Given the description of an element on the screen output the (x, y) to click on. 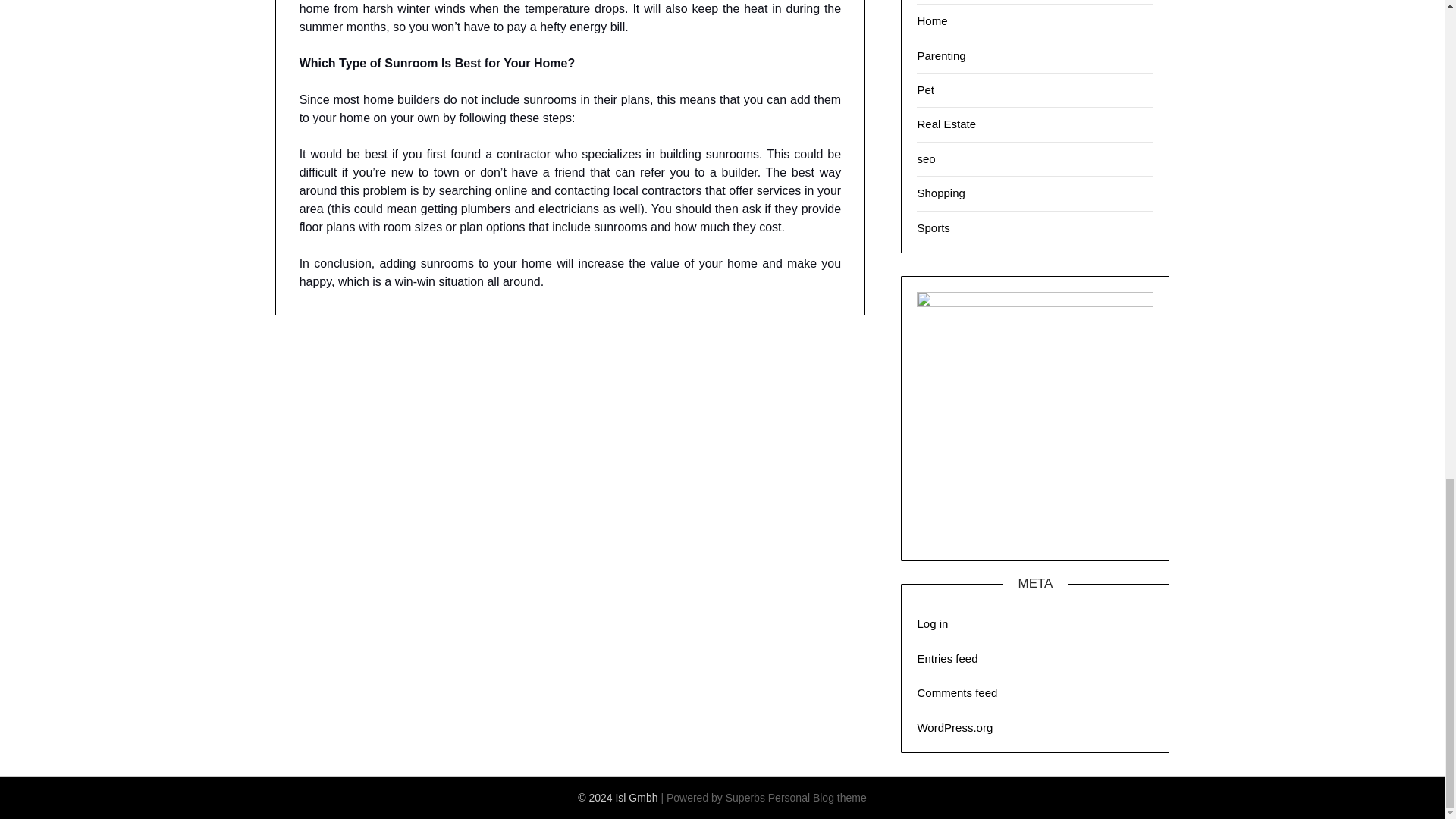
Parenting (941, 55)
WordPress.org (954, 726)
Shopping (940, 192)
seo (925, 158)
Entries feed (946, 658)
Personal Blog theme (817, 797)
Log in (932, 623)
Home (932, 20)
Real Estate (946, 123)
Pet (925, 89)
Sports (933, 227)
Comments feed (957, 692)
